Given the description of an element on the screen output the (x, y) to click on. 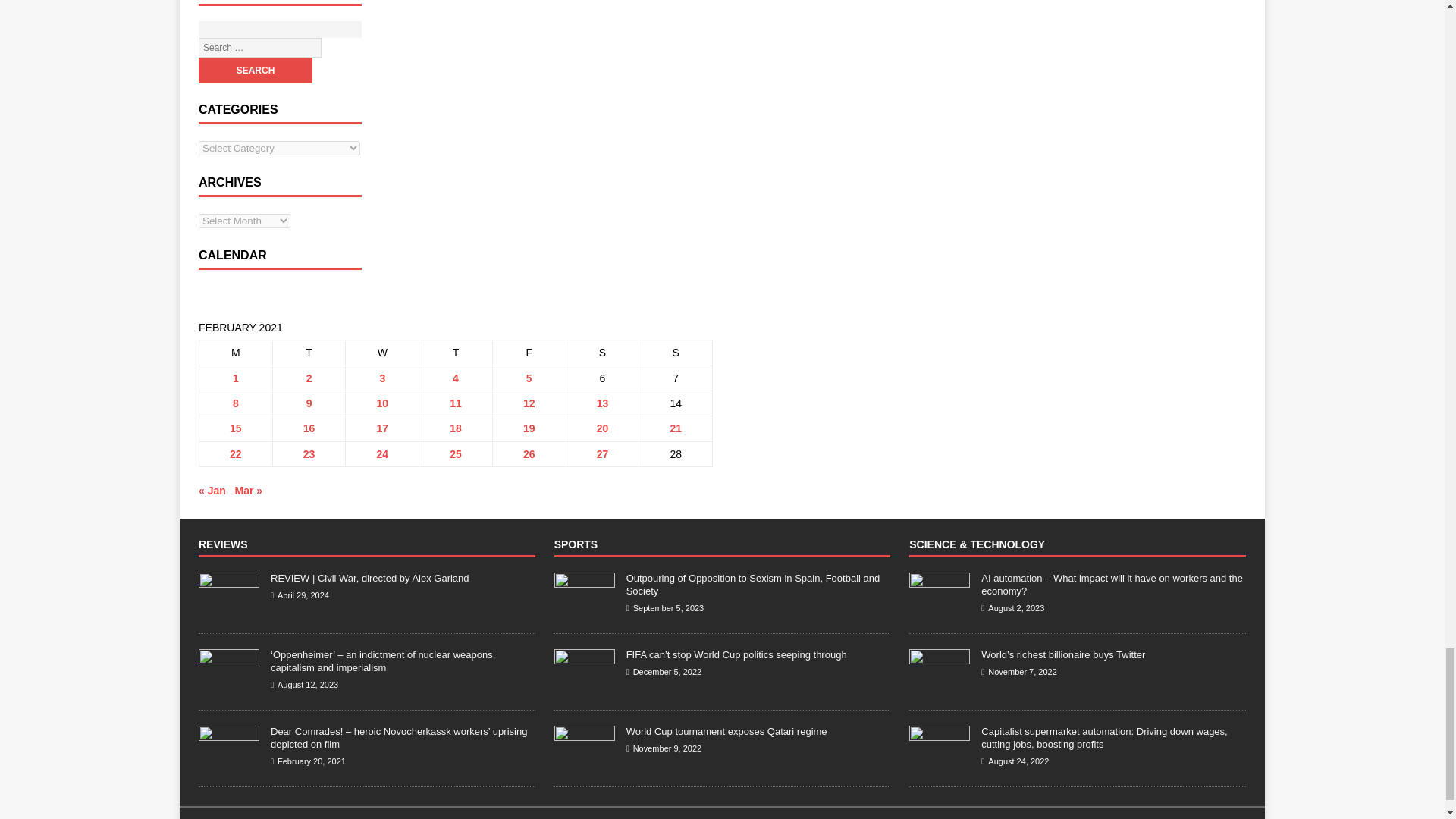
Search (255, 70)
Search (255, 70)
